Given the description of an element on the screen output the (x, y) to click on. 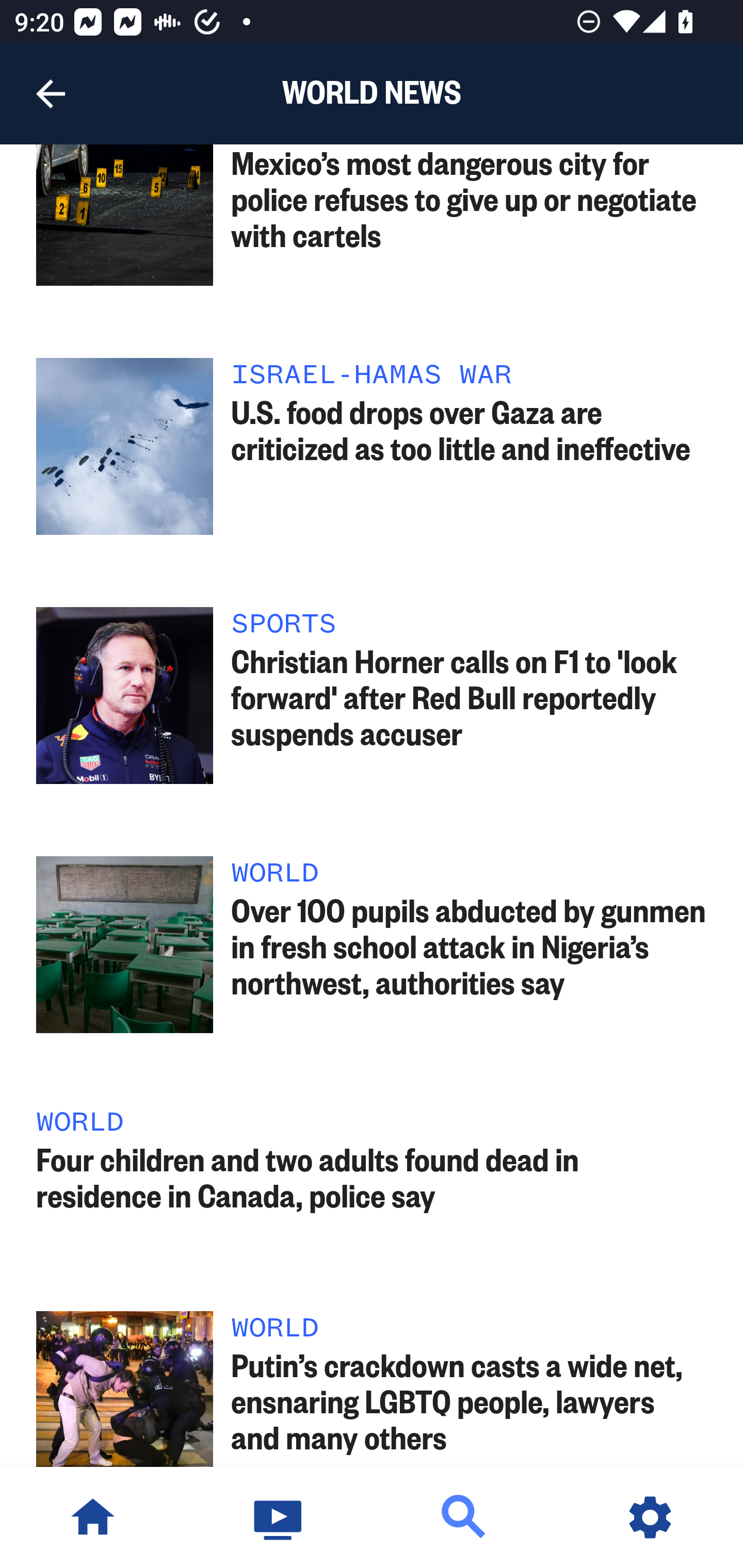
Navigate up (50, 93)
NBC News Home (92, 1517)
Watch (278, 1517)
Settings (650, 1517)
